Given the description of an element on the screen output the (x, y) to click on. 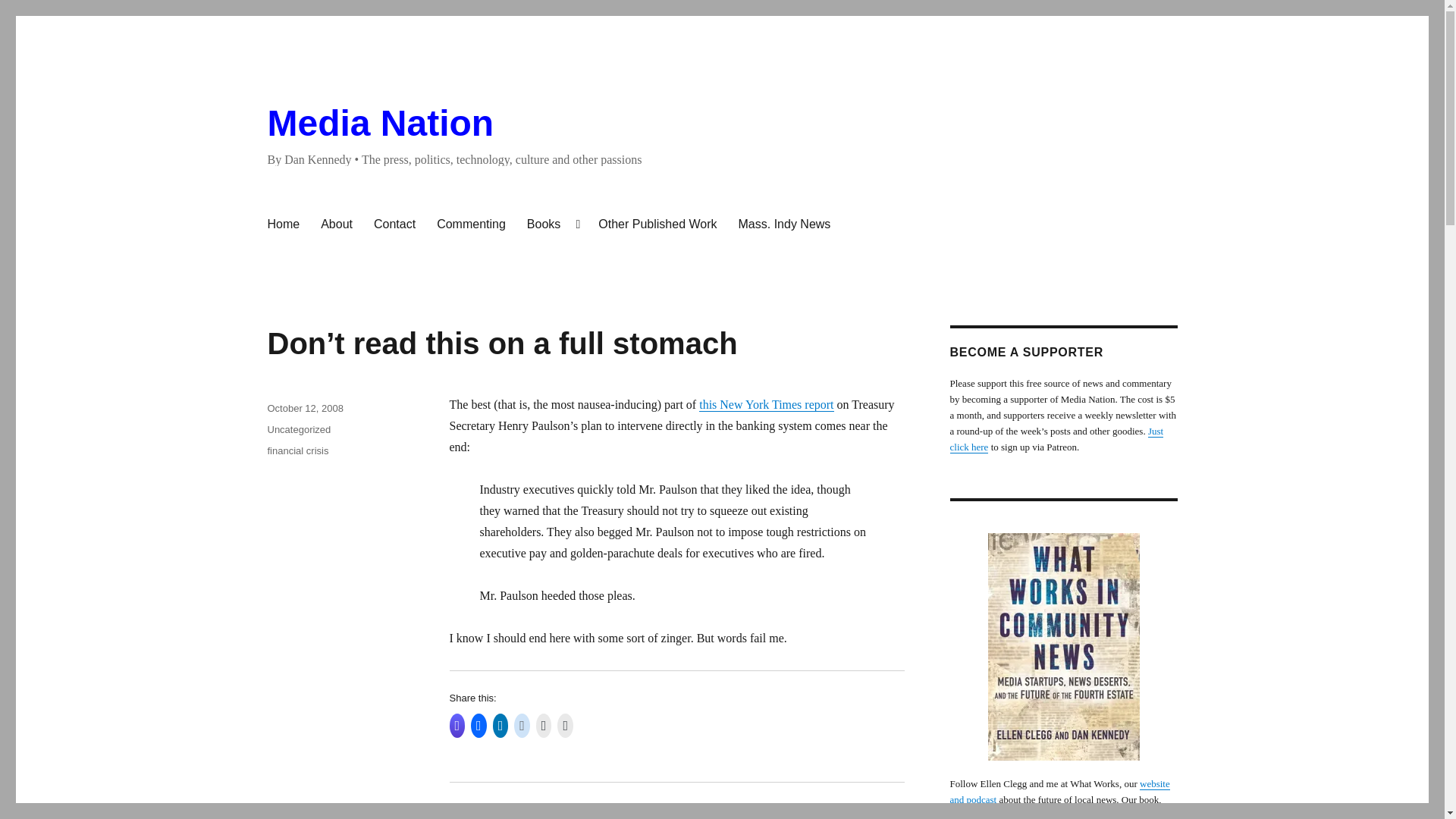
October 12, 2008 (304, 408)
About (336, 224)
Books (552, 224)
Media Nation (379, 123)
Other Published Work (657, 224)
financial crisis (297, 450)
Uncategorized (298, 429)
Home (283, 224)
Contact (394, 224)
this New York Times report (765, 404)
Commenting (471, 224)
Mass. Indy News (784, 224)
